Given the description of an element on the screen output the (x, y) to click on. 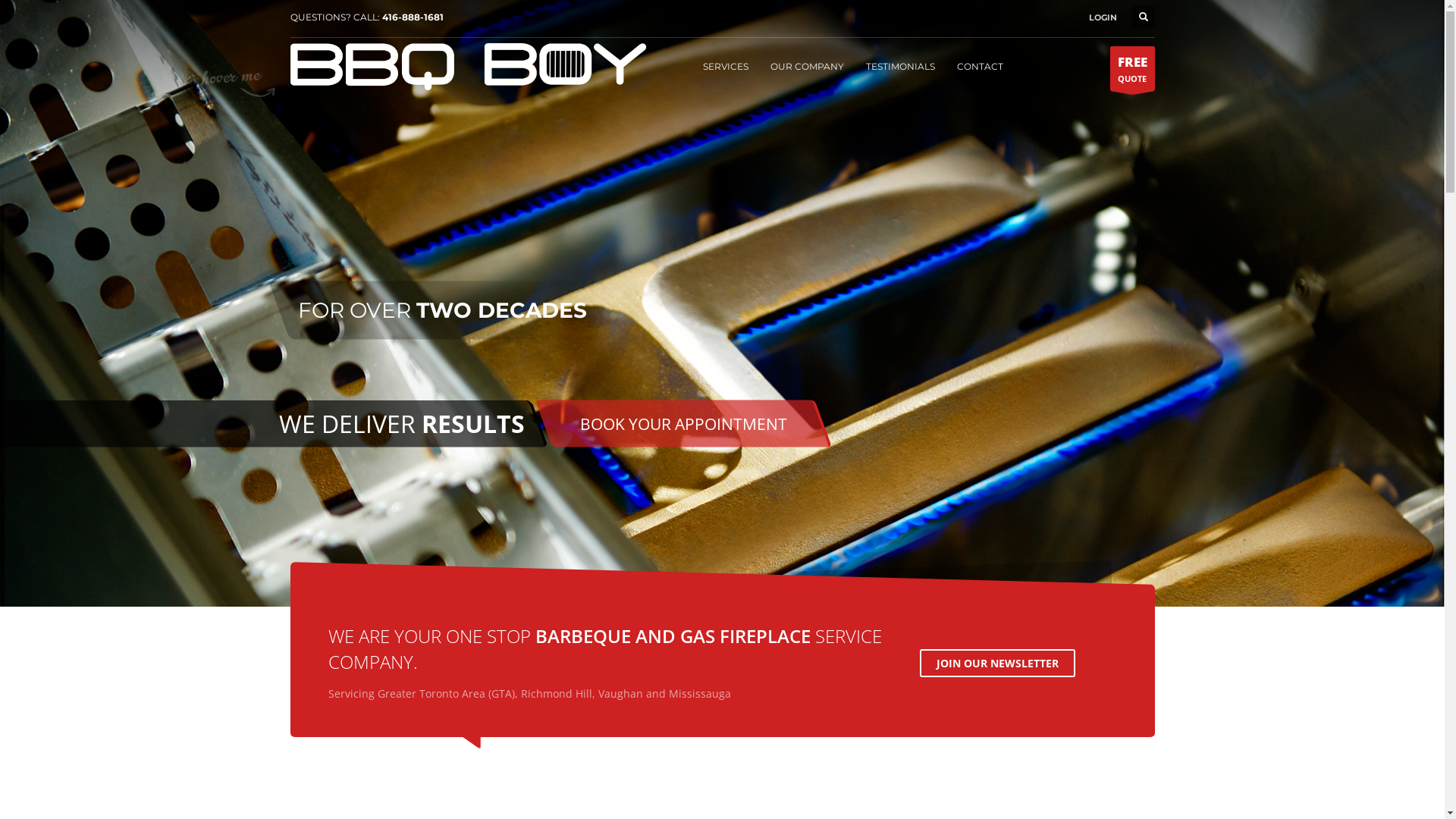
BOOK YOUR APPOINTMENT Element type: text (682, 422)
JOIN OUR NEWSLETTER Element type: text (996, 663)
One stop Barbeque and Gas Fireplace service people Element type: hover (467, 66)
OUR COMPANY Element type: text (807, 65)
SERVICES Element type: text (725, 65)
burners_empty_drawer Element type: hover (722, 303)
416-888-1681 Element type: text (412, 16)
FREE
QUOTE Element type: text (1132, 67)
LOGIN Element type: text (1102, 17)
CONTACT Element type: text (979, 65)
TESTIMONIALS Element type: text (900, 65)
